Given the description of an element on the screen output the (x, y) to click on. 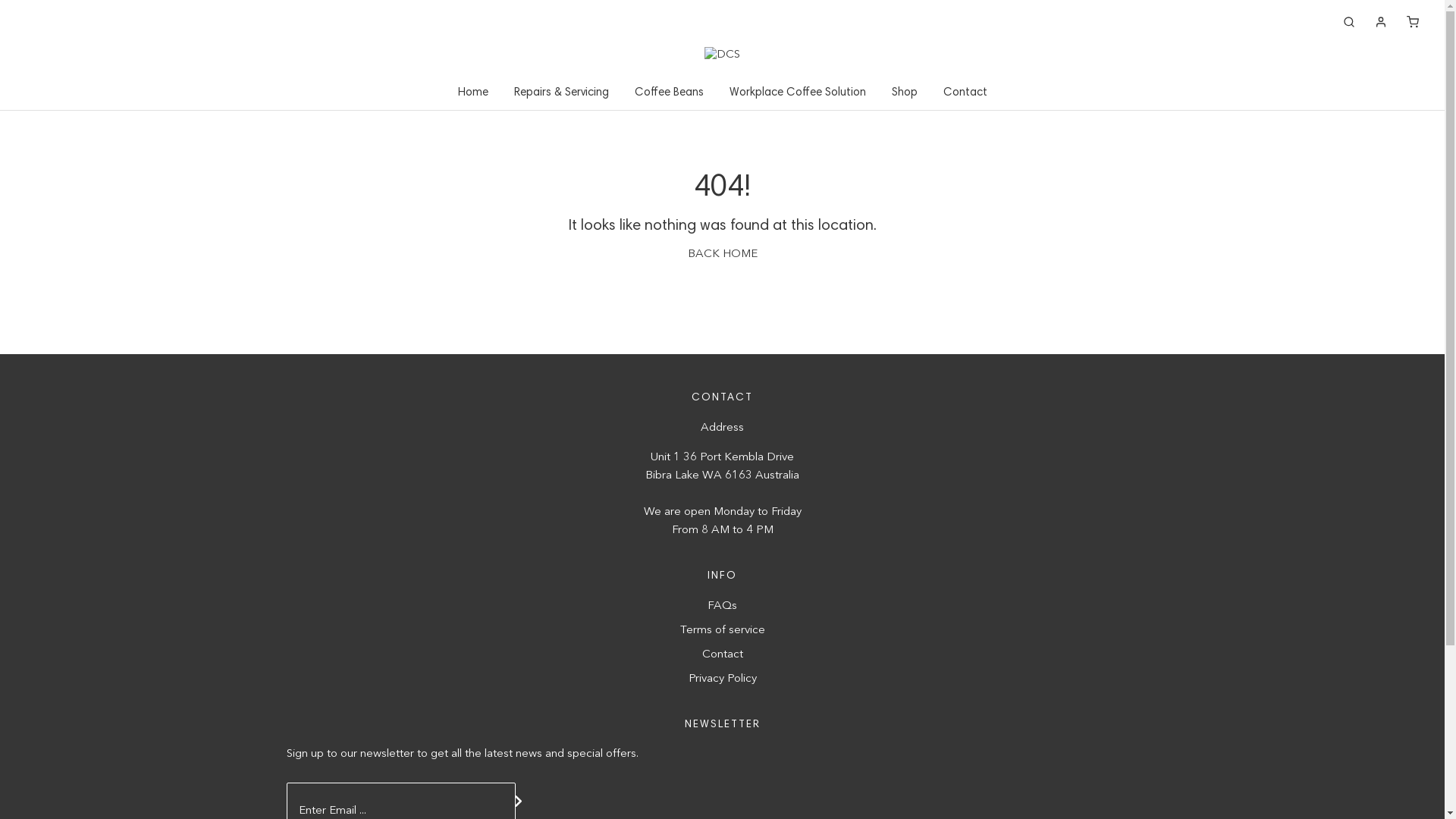
Home Element type: text (473, 92)
Contact Element type: text (722, 654)
Workplace Coffee Solution Element type: text (797, 92)
FAQs Element type: text (722, 605)
Grouch and Co Coffee Roasters Element type: hover (722, 54)
BACK HOME Element type: text (721, 254)
Privacy Policy Element type: text (722, 678)
Terms of service Element type: text (721, 630)
Contact Element type: text (965, 92)
Coffee Beans Element type: text (667, 92)
Repairs & Servicing Element type: text (561, 92)
Shop Element type: text (904, 92)
